Given the description of an element on the screen output the (x, y) to click on. 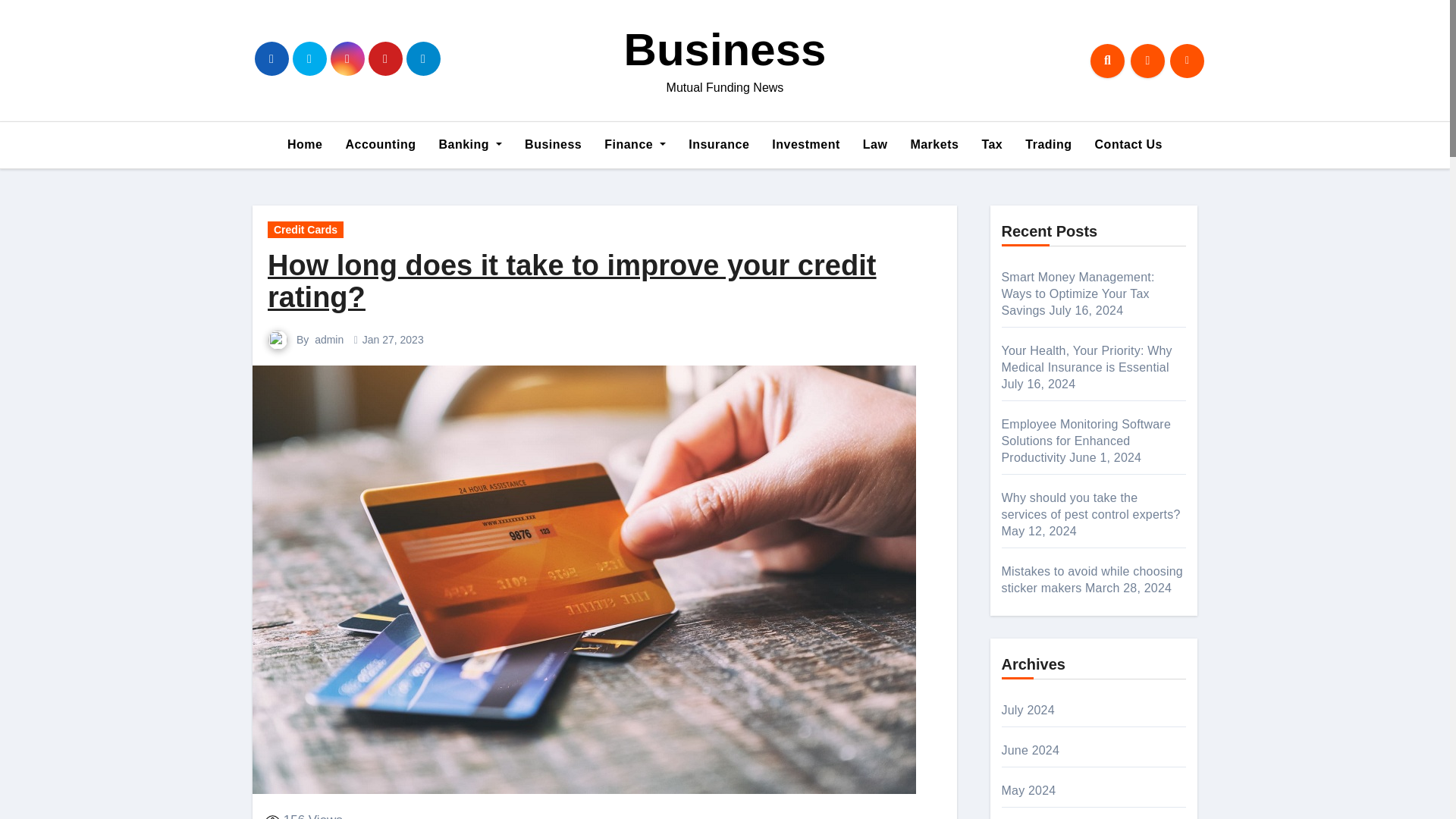
Home (304, 144)
Banking (469, 144)
Finance (634, 144)
Markets (933, 144)
Trading (1048, 144)
Trading (1048, 144)
Business (552, 144)
Contact Us (1128, 144)
Accounting (379, 144)
Insurance (718, 144)
Home (304, 144)
Tax (991, 144)
Credit Cards (305, 229)
Markets (933, 144)
